Given the description of an element on the screen output the (x, y) to click on. 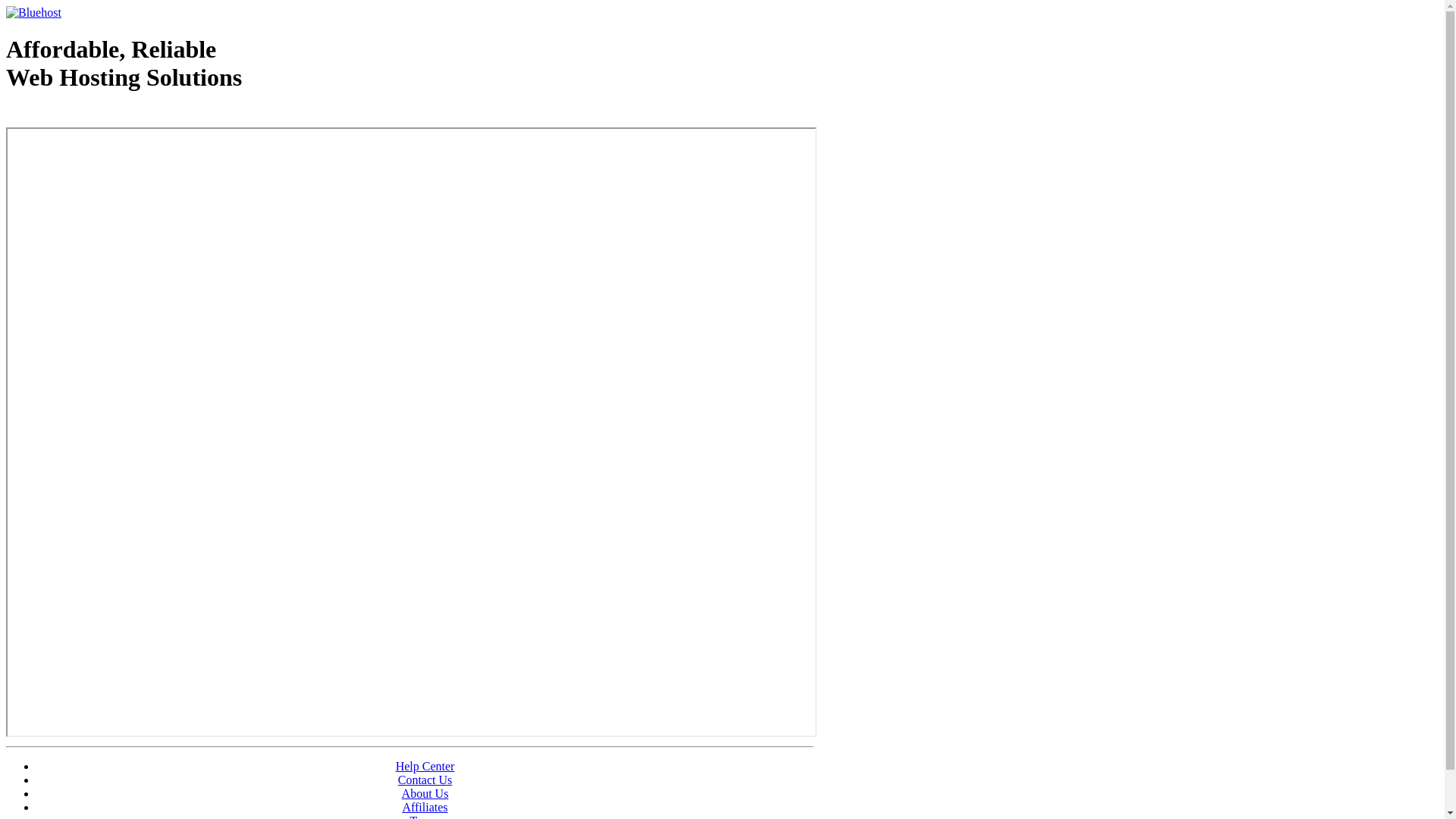
Web Hosting - courtesy of www.bluehost.com Element type: text (94, 115)
Help Center Element type: text (425, 765)
About Us Element type: text (424, 793)
Contact Us Element type: text (425, 779)
Affiliates Element type: text (424, 806)
